Given the description of an element on the screen output the (x, y) to click on. 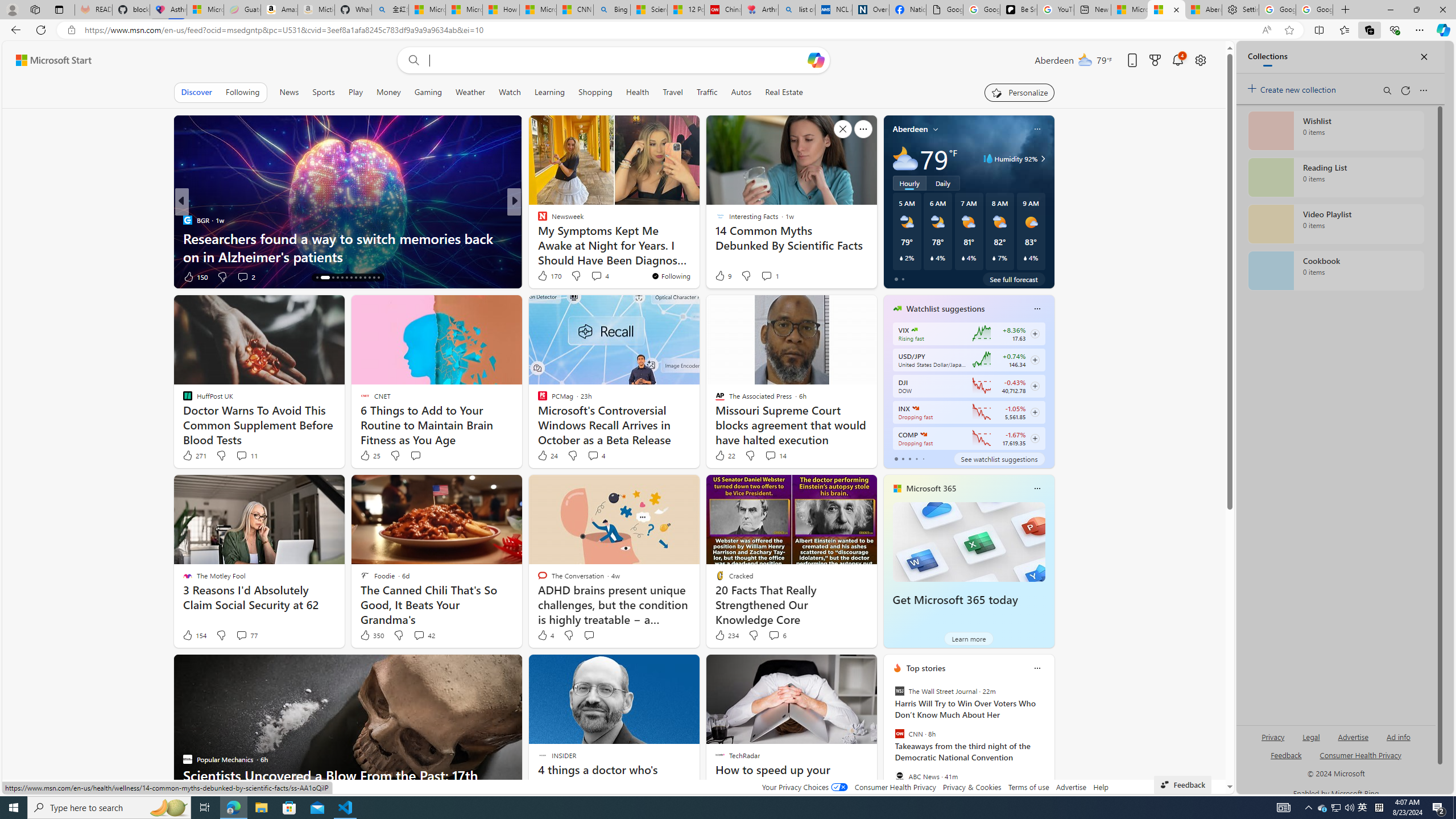
Your Privacy Choices (804, 786)
FOX News (537, 219)
View comments 5 Comment (592, 276)
View comments 42 Comment (419, 635)
View comments 14 Comment (775, 455)
View comments 6 Comment (776, 634)
CBOE Market Volatility Index (914, 329)
View comments 18 Comment (592, 276)
